Given the description of an element on the screen output the (x, y) to click on. 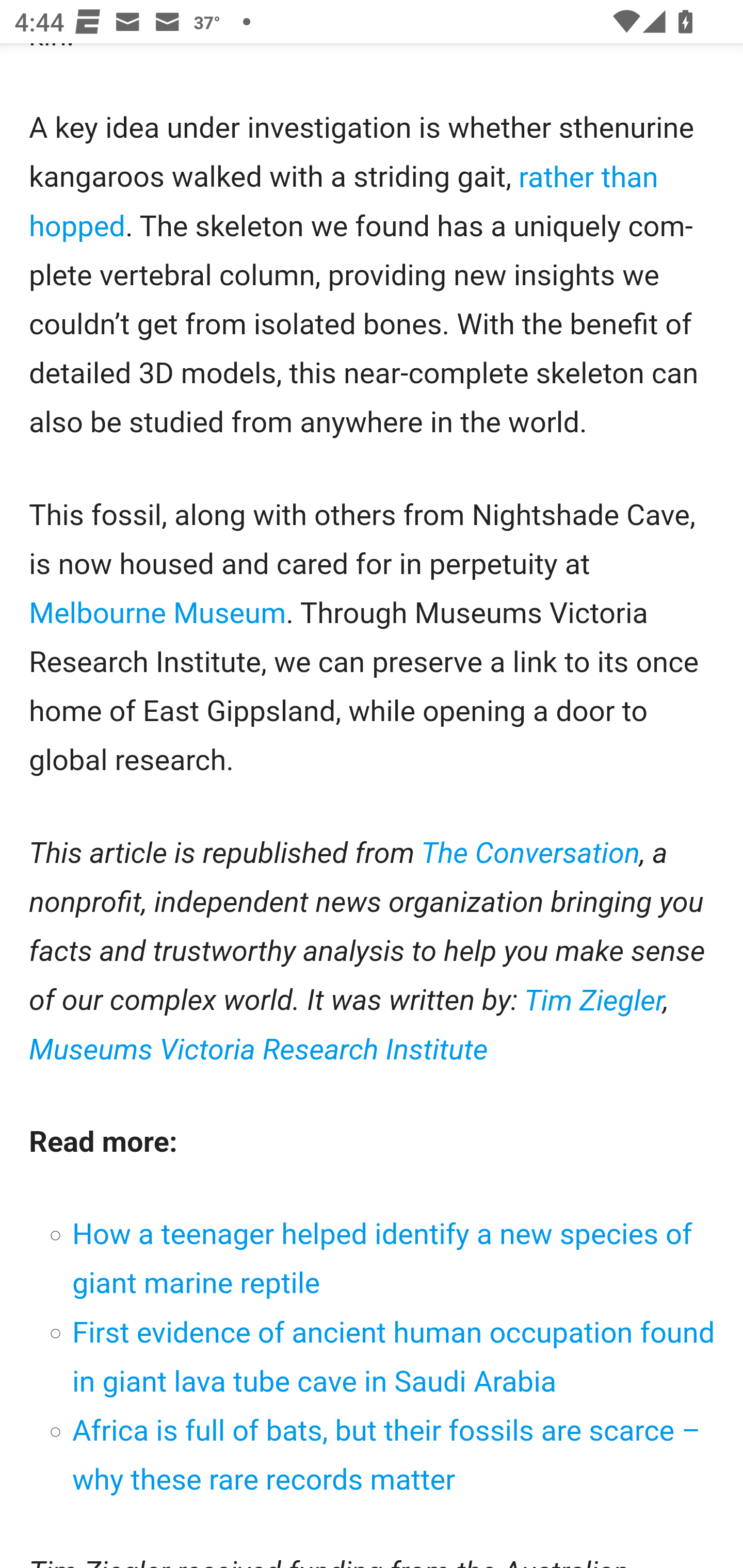
rather than hopped (343, 201)
Melbourne Museum (157, 612)
The Conversation (530, 854)
Tim Ziegler (593, 1000)
Museums Victoria Research Institute (258, 1050)
